Given the description of an element on the screen output the (x, y) to click on. 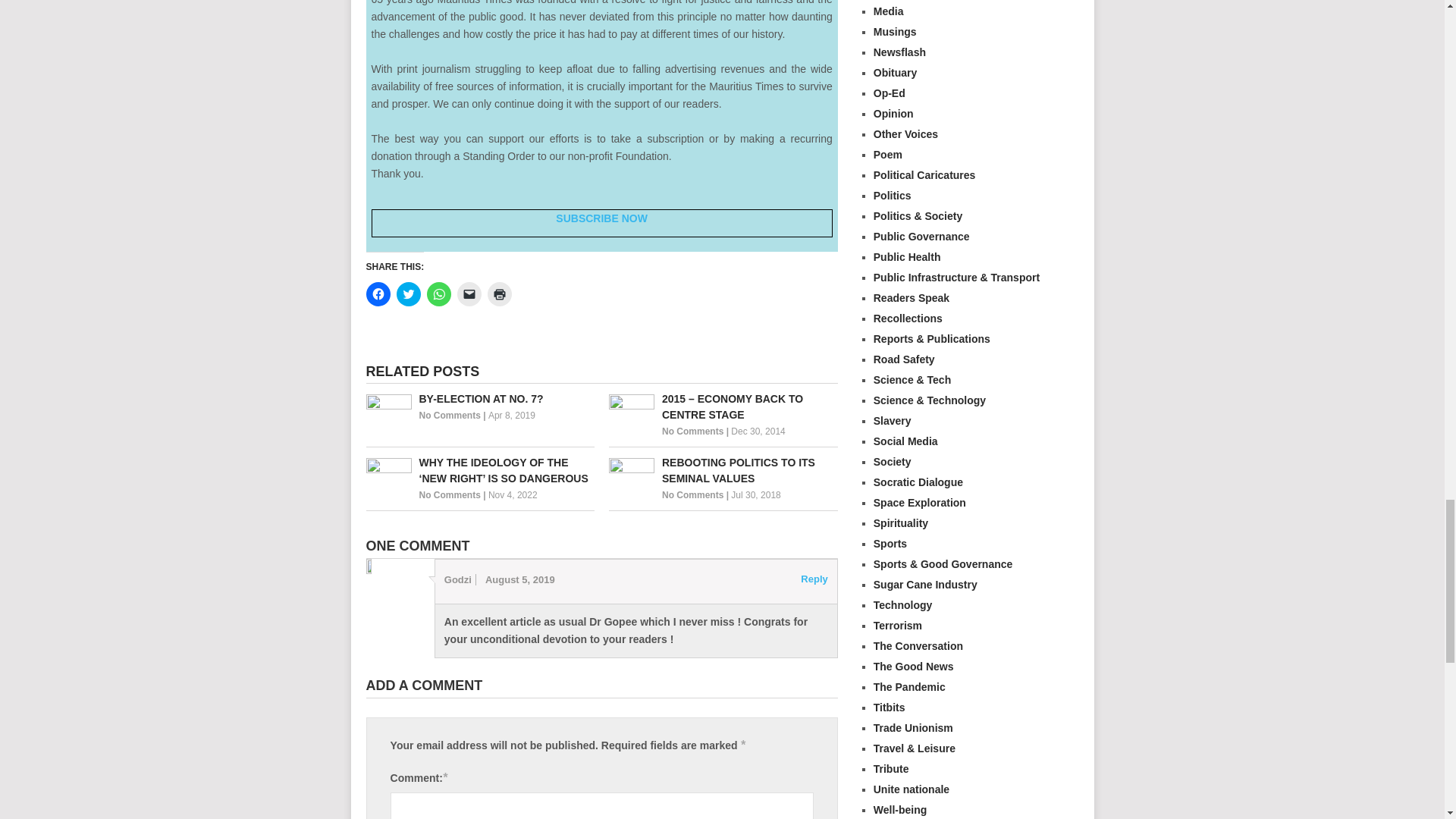
No Comments (449, 415)
Click to share on Facebook (377, 293)
Click to email a link to a friend (468, 293)
Click to print (498, 293)
Rebooting politics to its seminal values (723, 470)
Click to share on WhatsApp (437, 293)
Click to share on Twitter (408, 293)
BY-ELECTION AT NO. 7? (479, 399)
By-election at No. 7? (479, 399)
SUBSCRIBE NOW (601, 218)
